Given the description of an element on the screen output the (x, y) to click on. 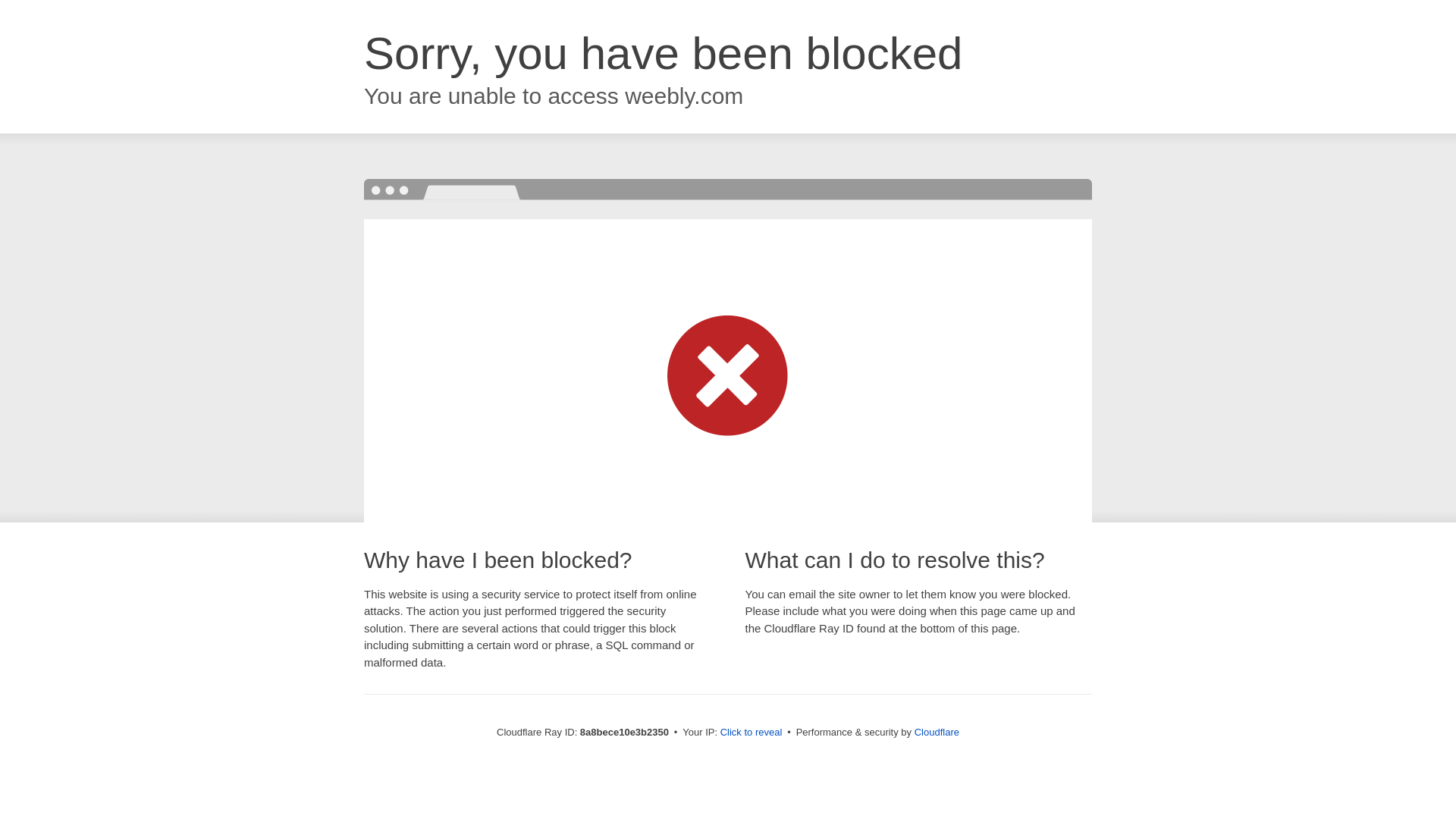
Click to reveal (751, 732)
Cloudflare (936, 731)
